Given the description of an element on the screen output the (x, y) to click on. 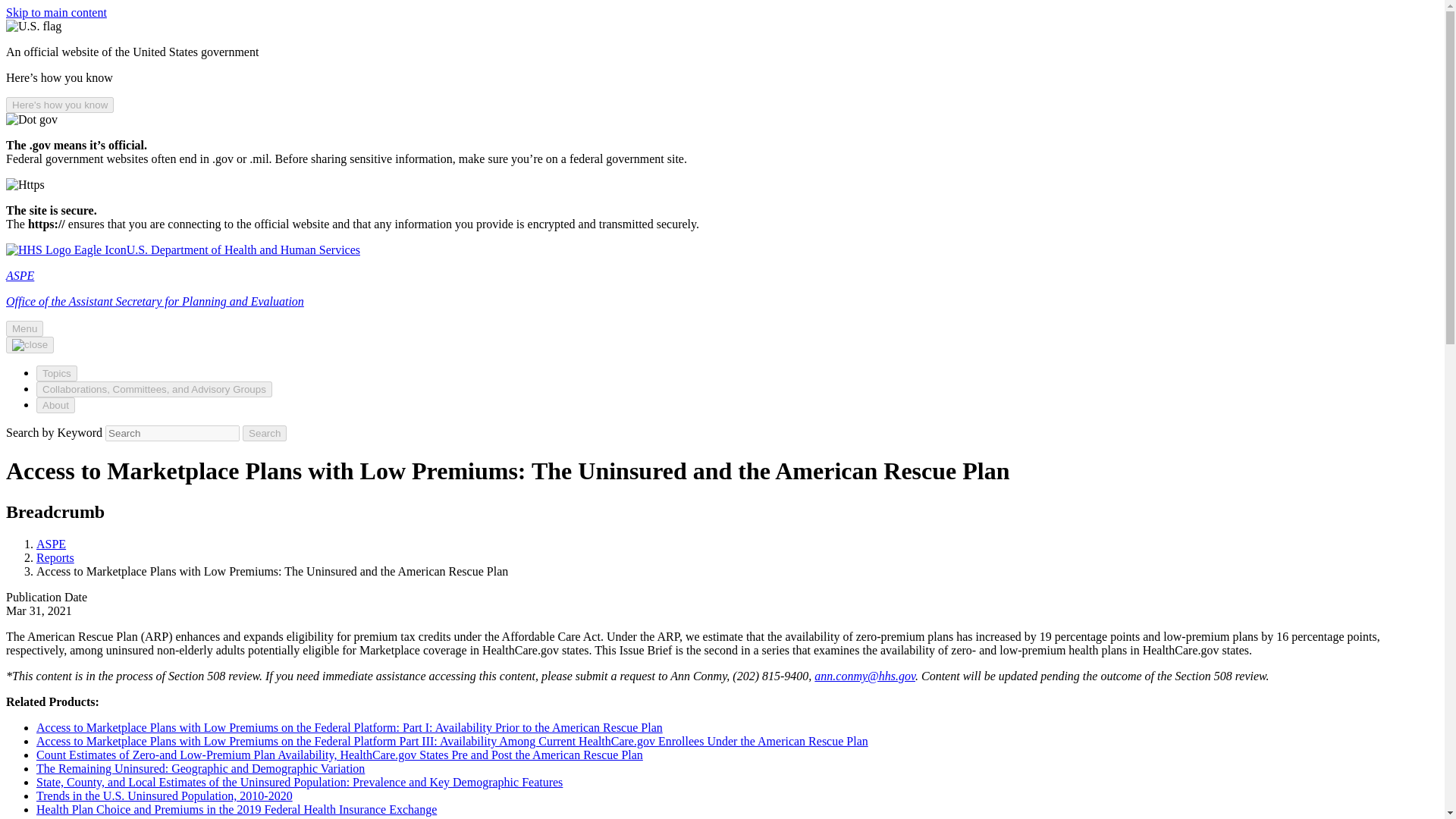
U.S. Department of Health and Human Services (182, 249)
Skip to main content (55, 11)
About (55, 405)
Reports (55, 557)
Collaborations, Committees, and Advisory Groups (154, 389)
Here's how you know (59, 105)
Trends in the U.S. Uninsured Population, 2010-2020 (164, 795)
Wednesday, March 31, 2021 (38, 610)
Search (264, 433)
Topics (56, 373)
